Given the description of an element on the screen output the (x, y) to click on. 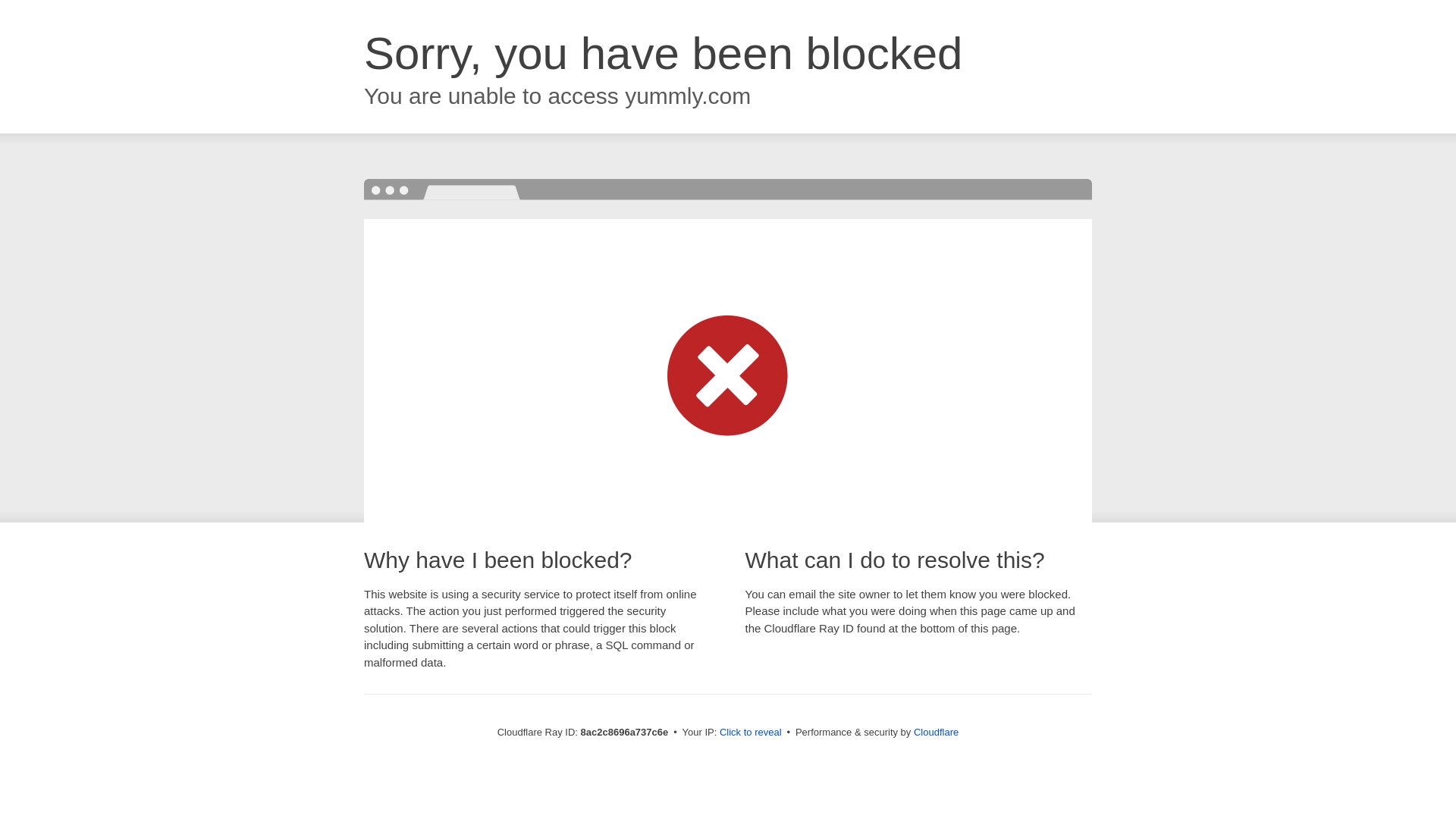
Cloudflare (936, 731)
Click to reveal (750, 732)
